Given the description of an element on the screen output the (x, y) to click on. 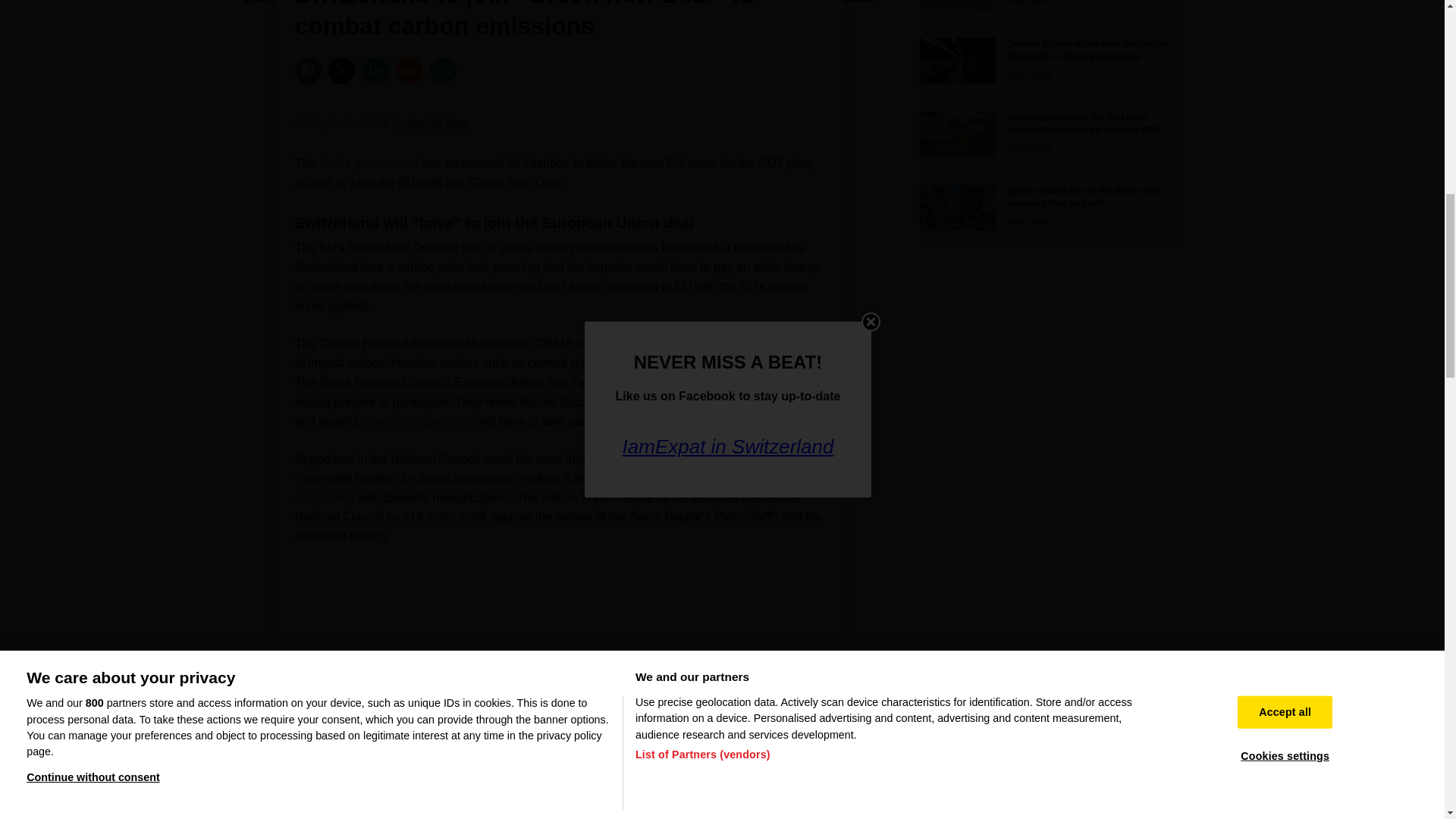
3rd party ad content (559, 622)
Two Swiss cities named among the 10 happiest in the world (1043, 4)
